Given the description of an element on the screen output the (x, y) to click on. 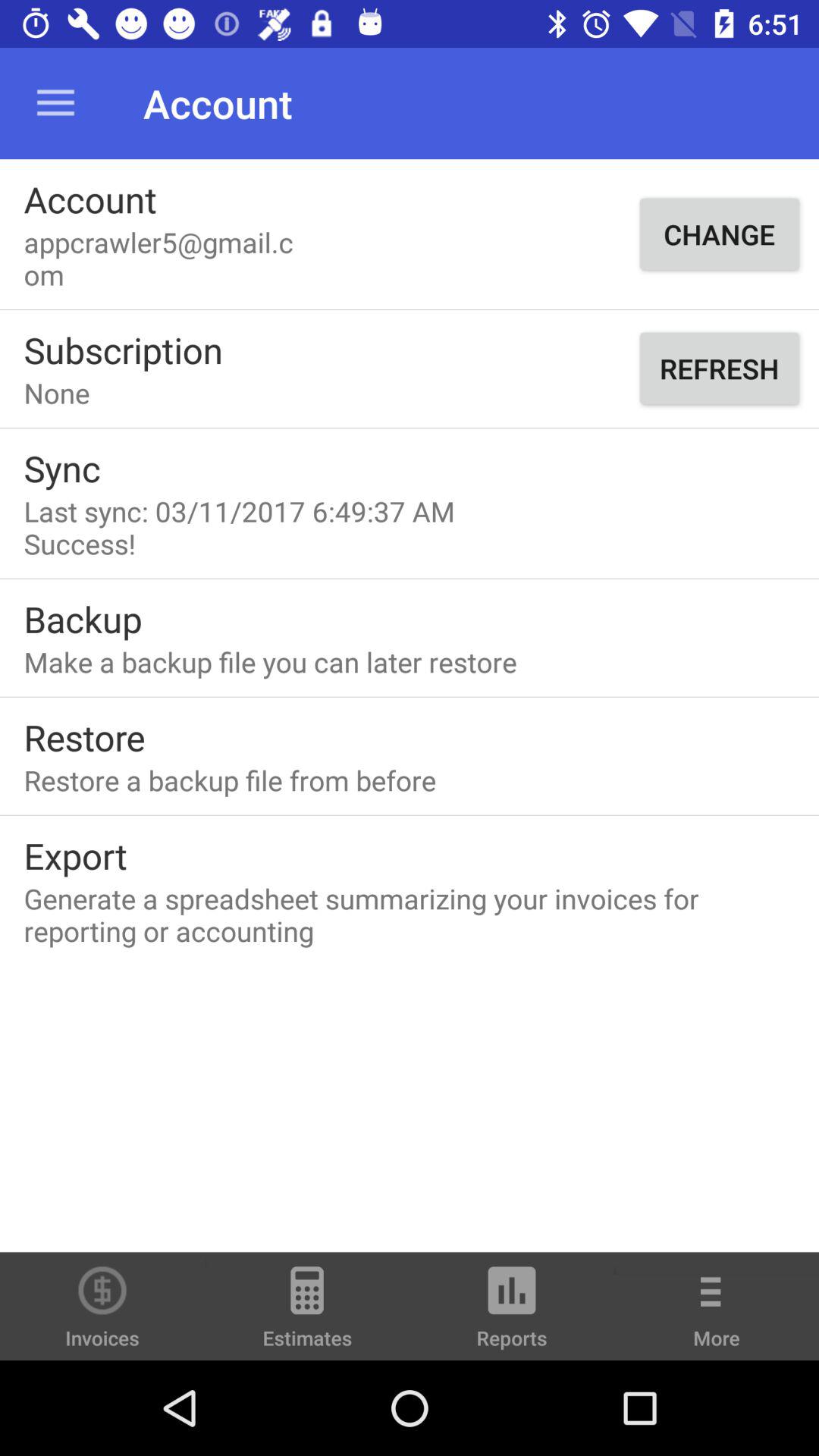
click the more option right side of reports (716, 1317)
select the button reports on the bottom of the page (511, 1312)
select change (718, 234)
